Given the description of an element on the screen output the (x, y) to click on. 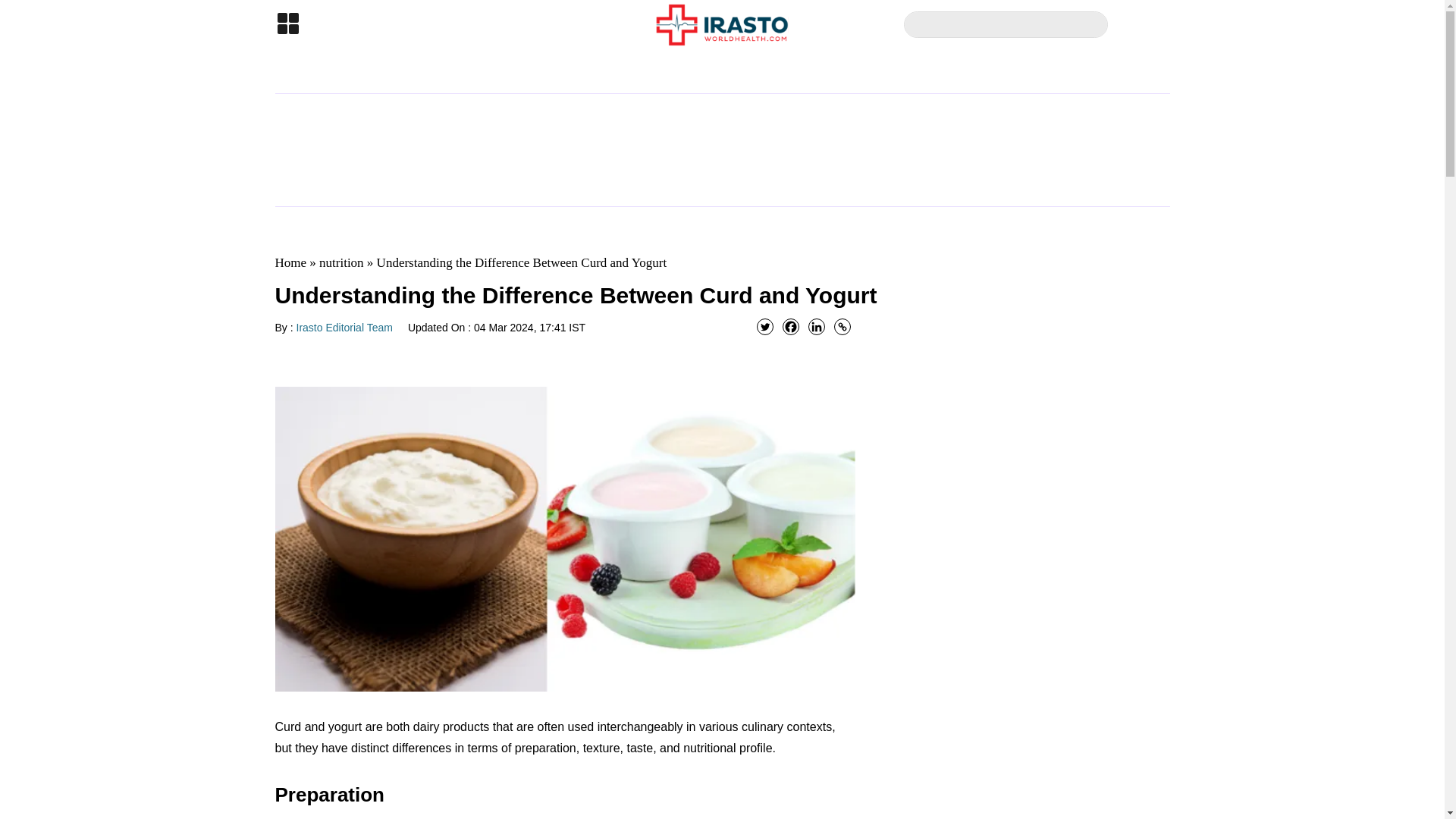
Twitter (765, 326)
Irasto Editorial Team (345, 327)
Copy Link (842, 326)
Linkedin (816, 326)
Home (290, 262)
Facebook (791, 326)
Search (1099, 23)
Search (1099, 23)
Irasto-logo (722, 24)
